Given the description of an element on the screen output the (x, y) to click on. 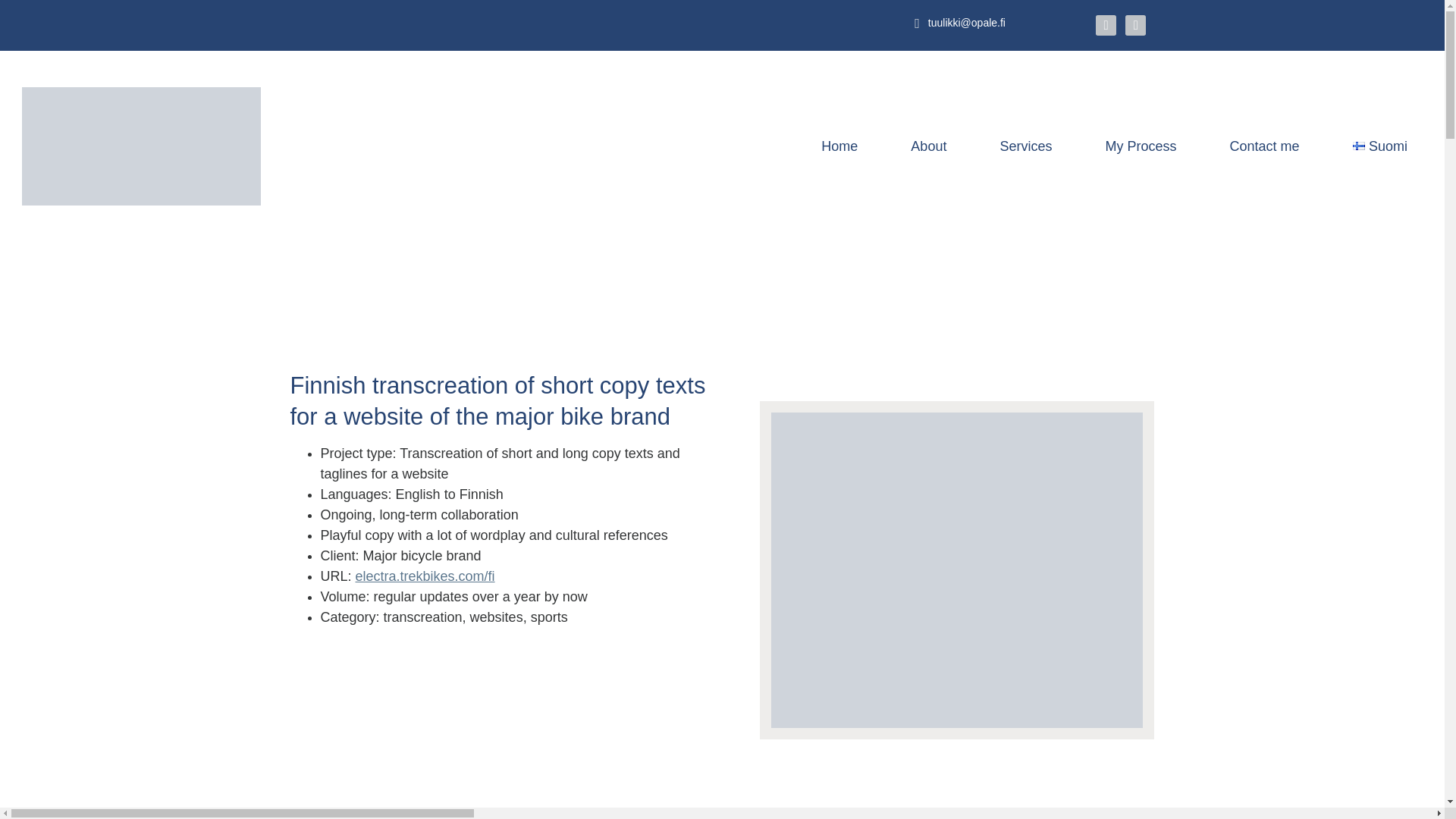
Suomi (1380, 145)
My Process (1140, 145)
Services (1025, 145)
Contact me (1264, 145)
Home (839, 145)
About (927, 145)
